Given the description of an element on the screen output the (x, y) to click on. 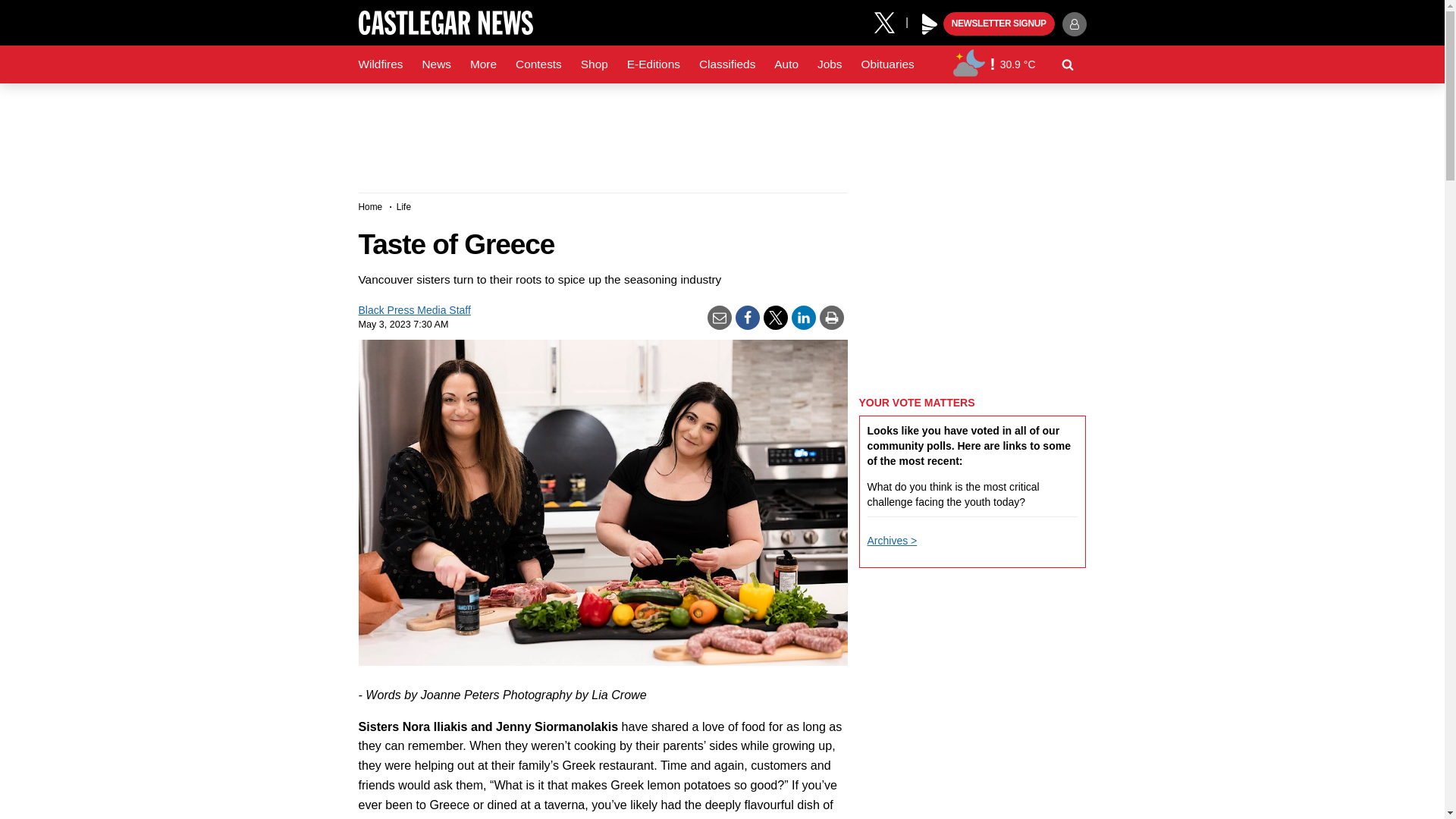
X (889, 21)
Black Press Media (929, 24)
NEWSLETTER SIGNUP (998, 24)
Play (929, 24)
News (435, 64)
Wildfires (380, 64)
